Given the description of an element on the screen output the (x, y) to click on. 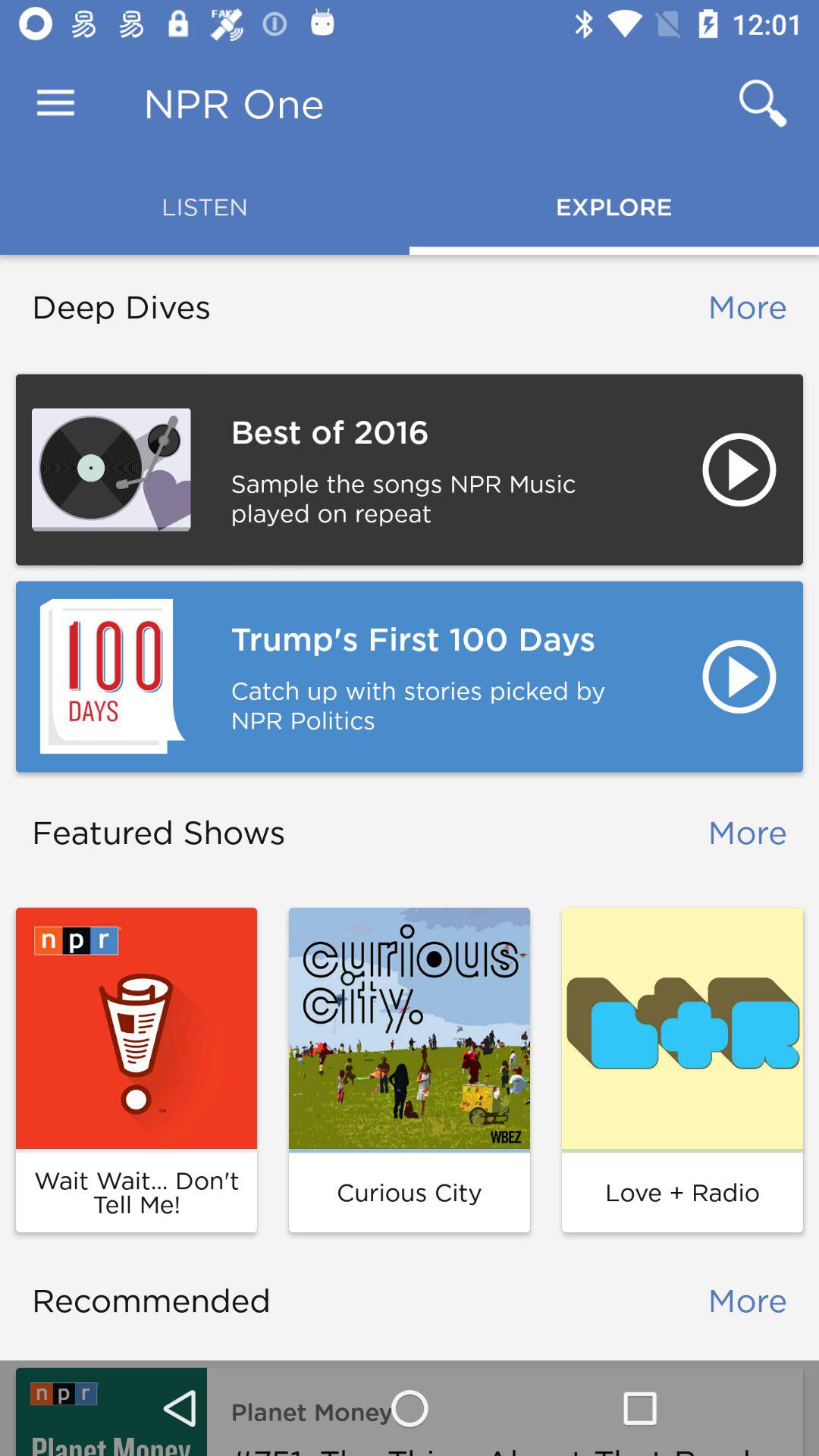
launch the icon next to the planet money (111, 1411)
